Given the description of an element on the screen output the (x, y) to click on. 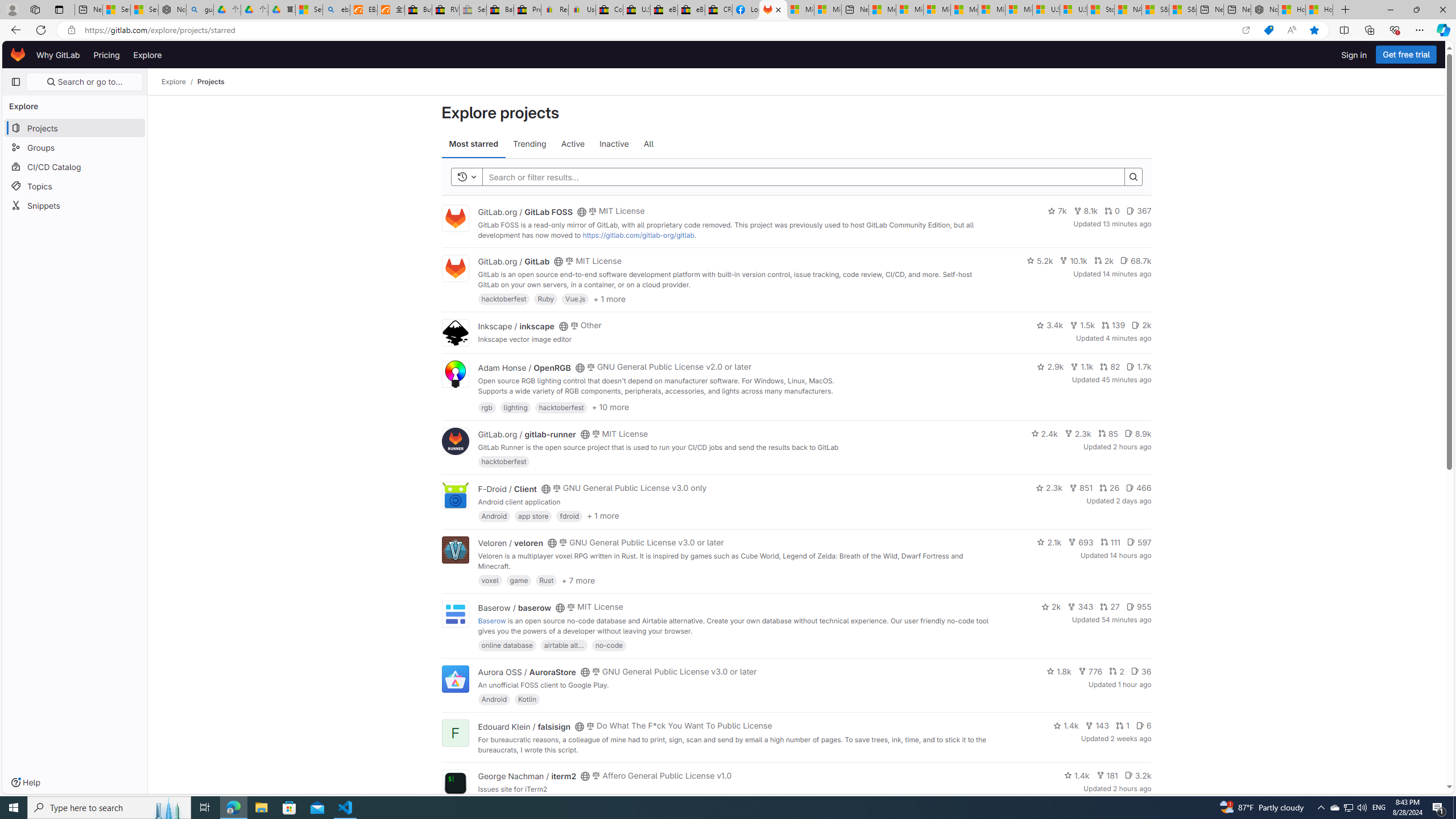
Address and search bar (658, 29)
2.9k (1050, 366)
955 (1138, 606)
Baserow (491, 619)
2.3k (1048, 487)
Primary navigation sidebar (15, 81)
776 (1089, 671)
online database (507, 644)
Aurora OSS / AuroraStore (526, 672)
466 (1138, 487)
1.1k (1081, 366)
